Given the description of an element on the screen output the (x, y) to click on. 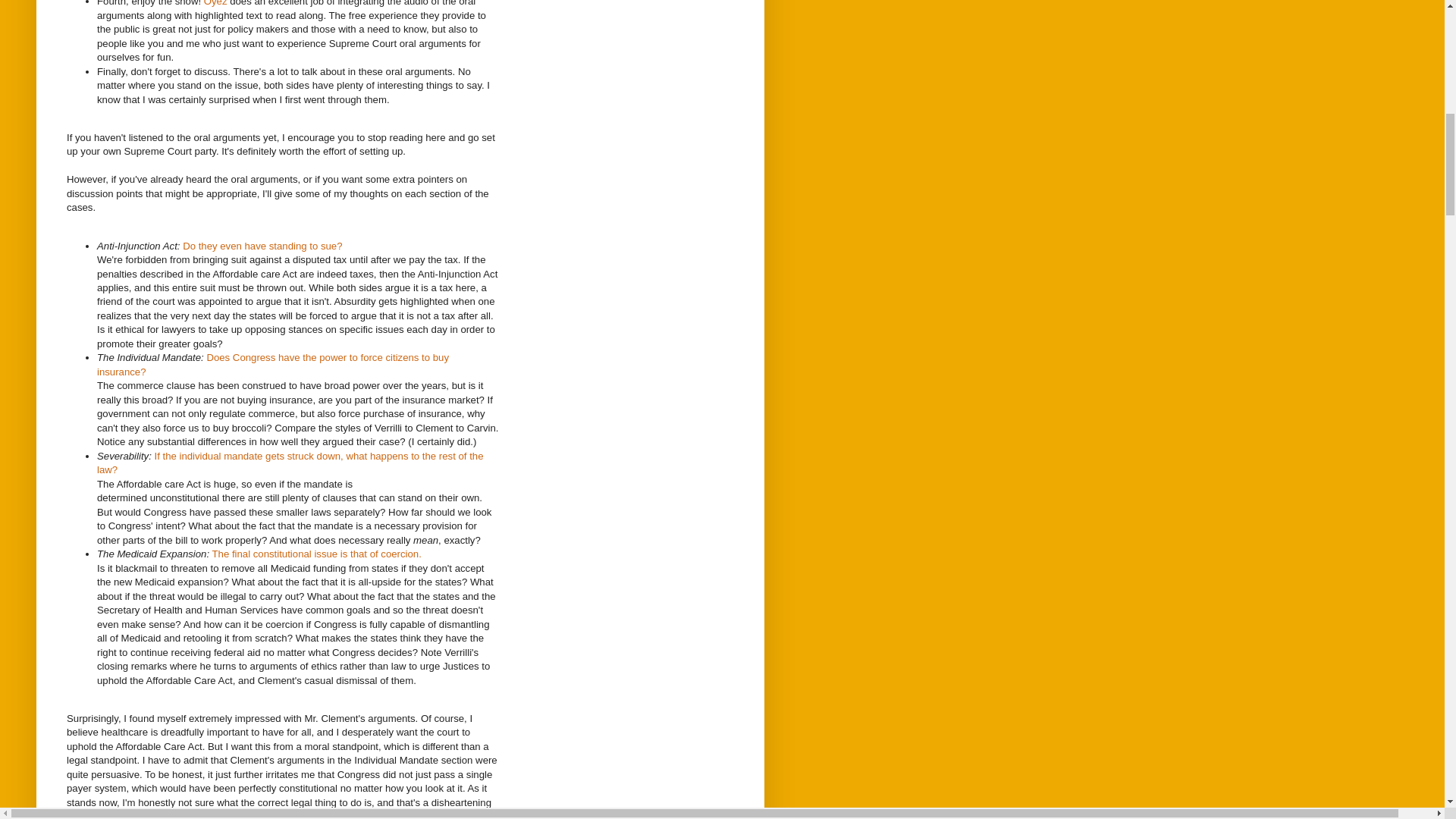
Do they even have standing to sue? (262, 245)
The final constitutional issue is that of coercion. (317, 553)
Oyez (215, 3)
